Given the description of an element on the screen output the (x, y) to click on. 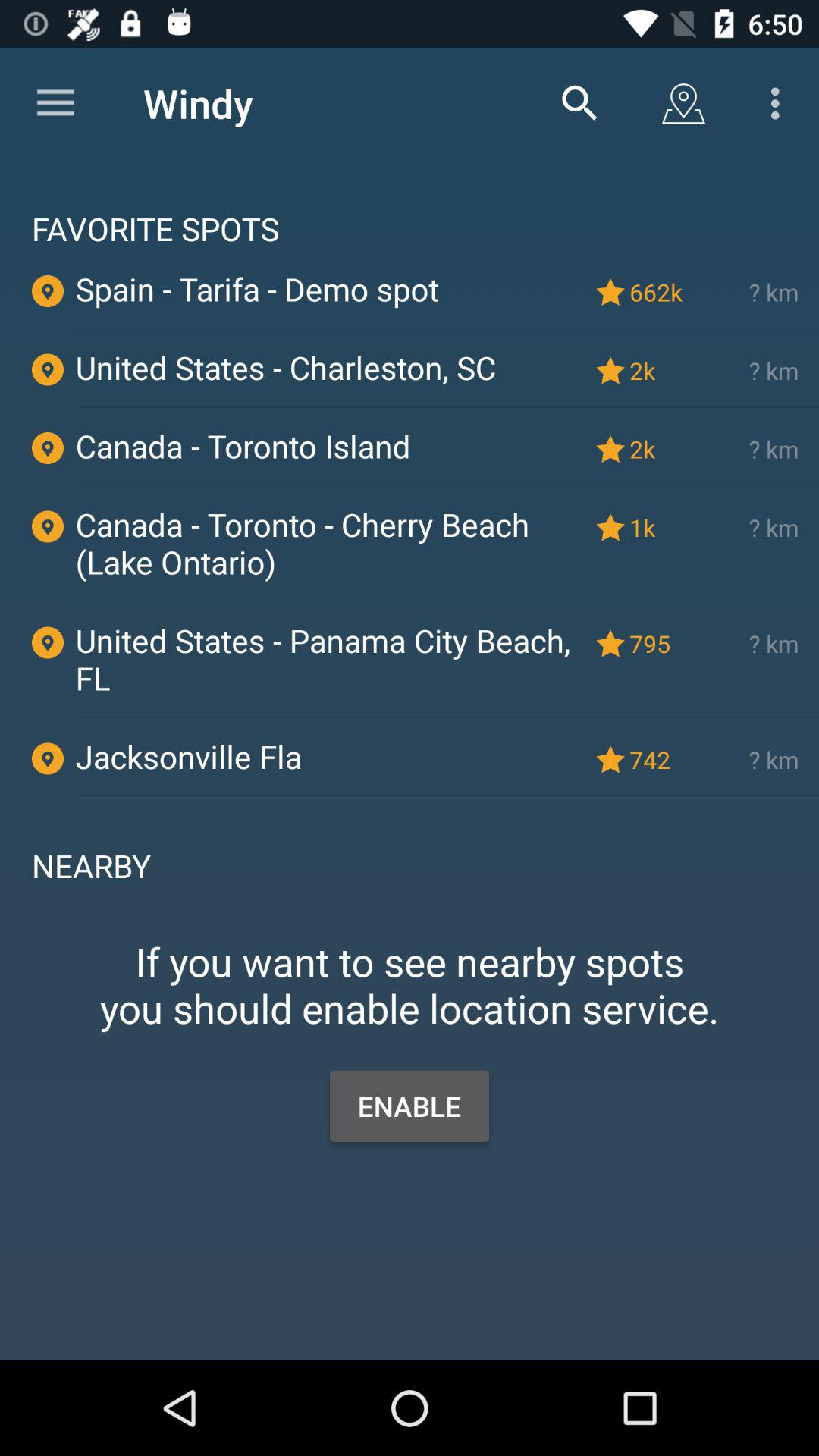
jump to favorite spots (409, 204)
